Given the description of an element on the screen output the (x, y) to click on. 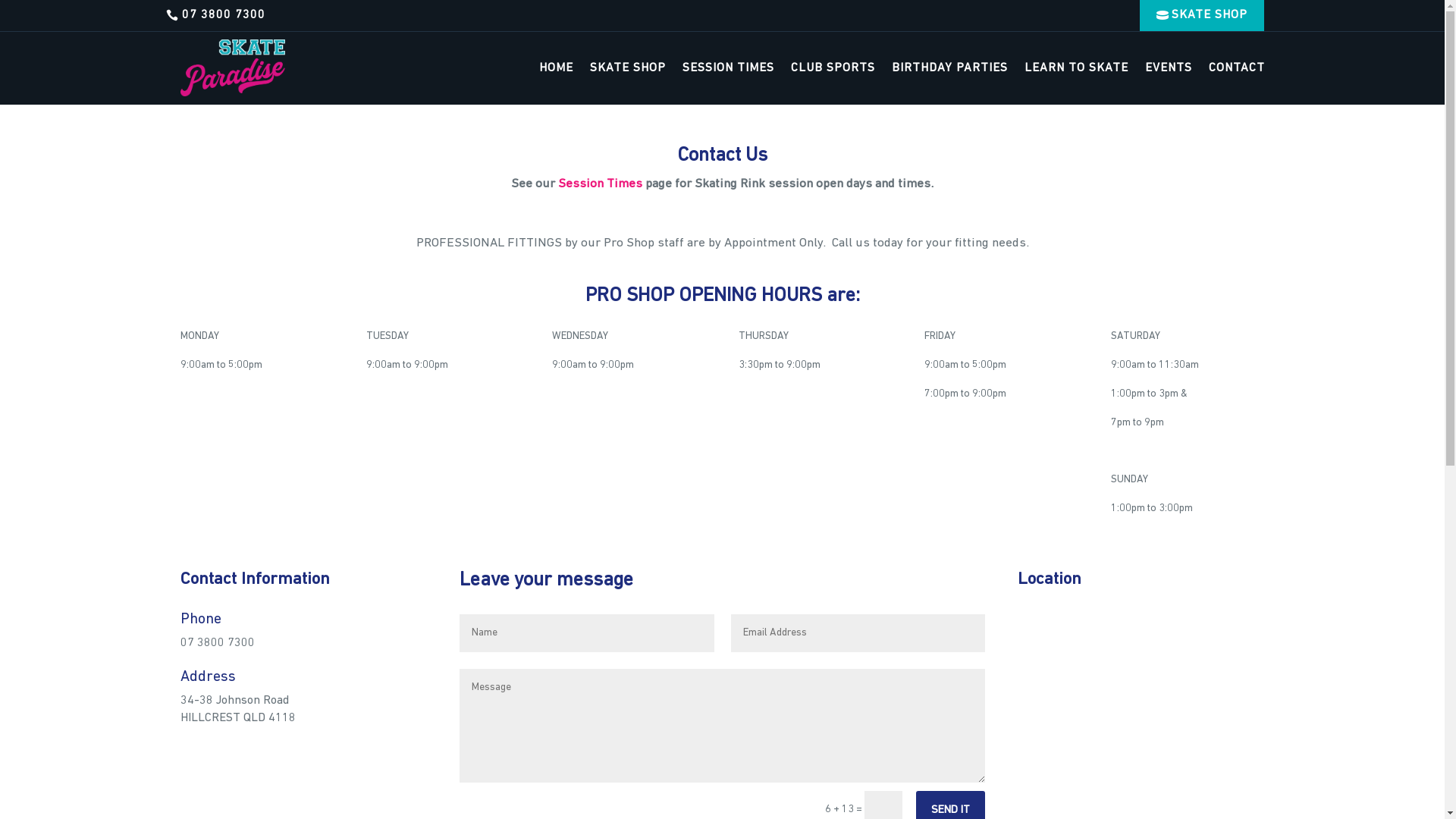
07 3800 7300 Element type: text (223, 15)
HOME Element type: text (555, 68)
LEARN TO SKATE Element type: text (1075, 68)
EVENTS Element type: text (1168, 68)
SESSION TIMES Element type: text (728, 68)
SKATE SHOP Element type: text (1201, 15)
CLUB SPORTS Element type: text (832, 68)
CONTACT Element type: text (1236, 68)
SKATE SHOP Element type: text (627, 68)
Session Times Element type: text (600, 183)
BIRTHDAY PARTIES Element type: text (949, 68)
